Given the description of an element on the screen output the (x, y) to click on. 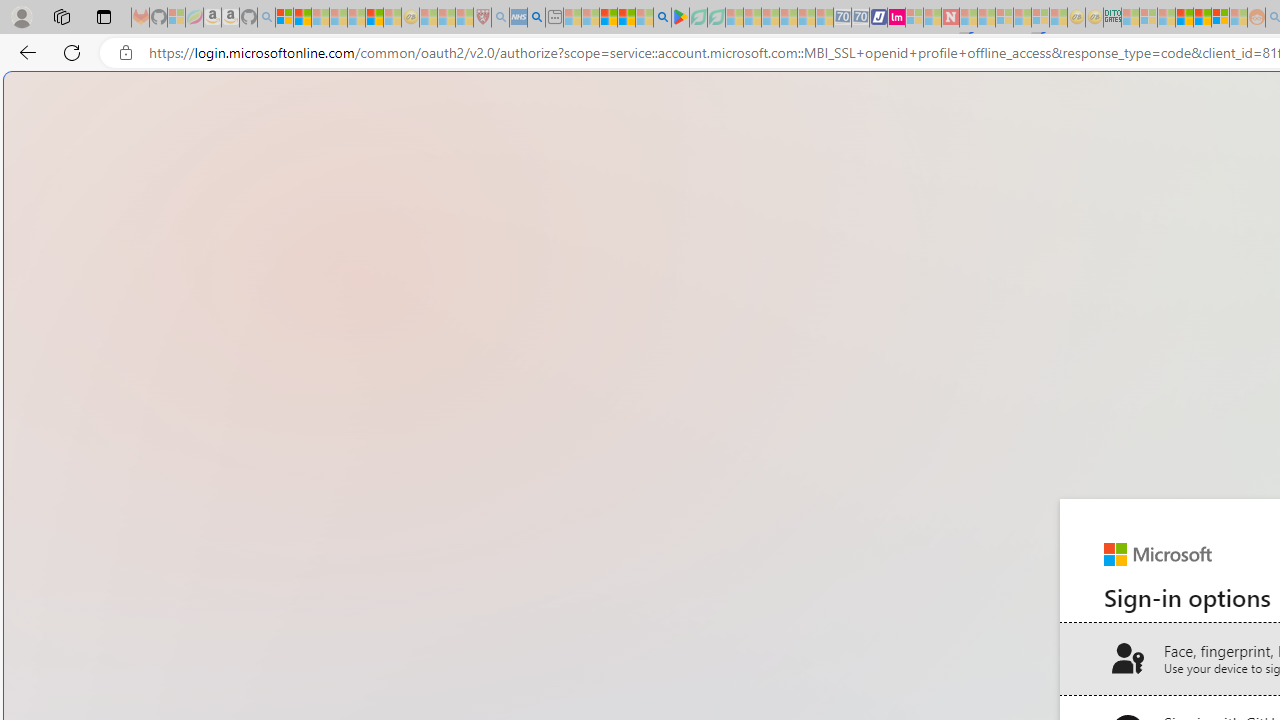
Expert Portfolios (1184, 17)
